Given the description of an element on the screen output the (x, y) to click on. 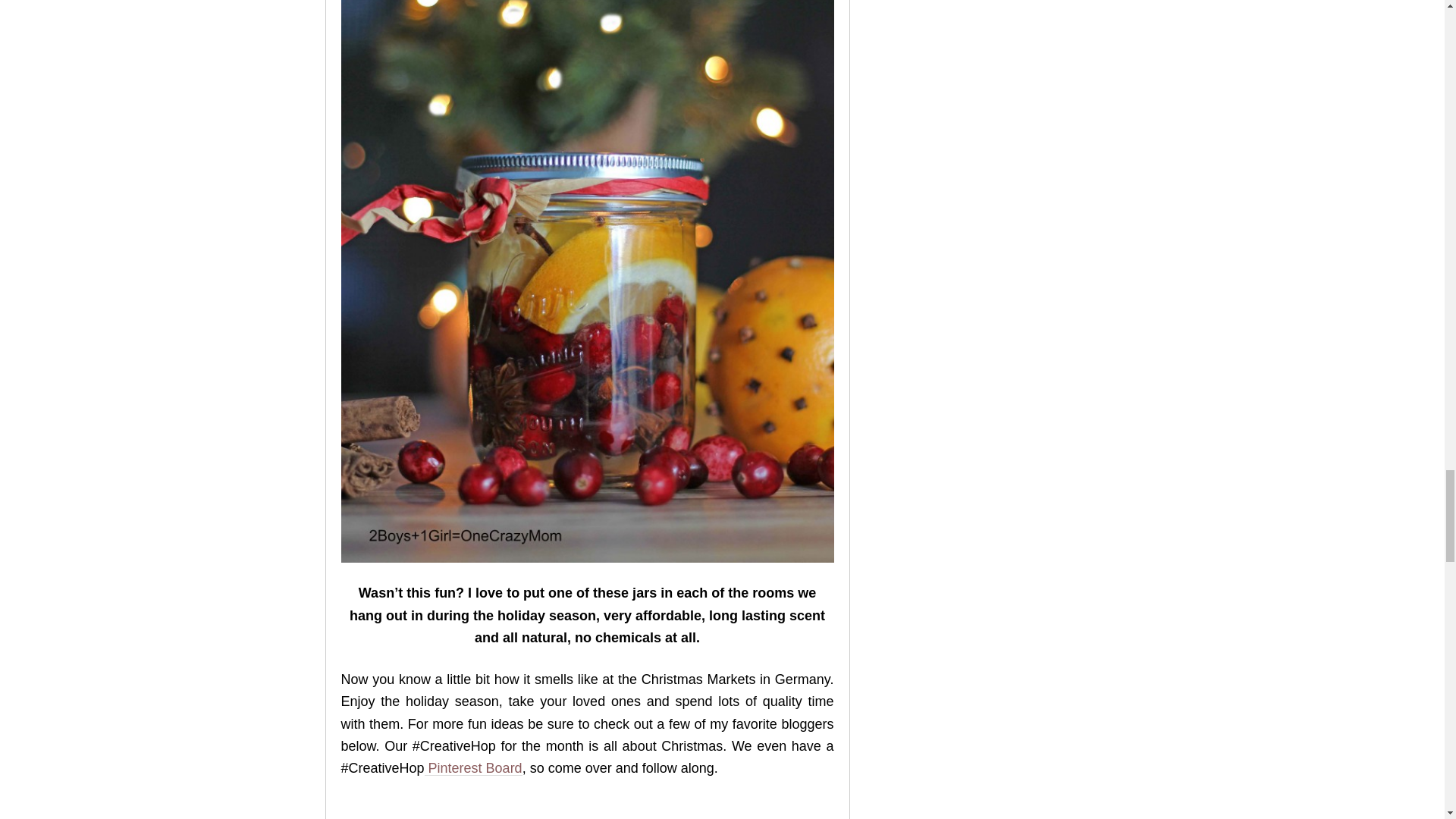
Pinterest Board (473, 768)
